Given the description of an element on the screen output the (x, y) to click on. 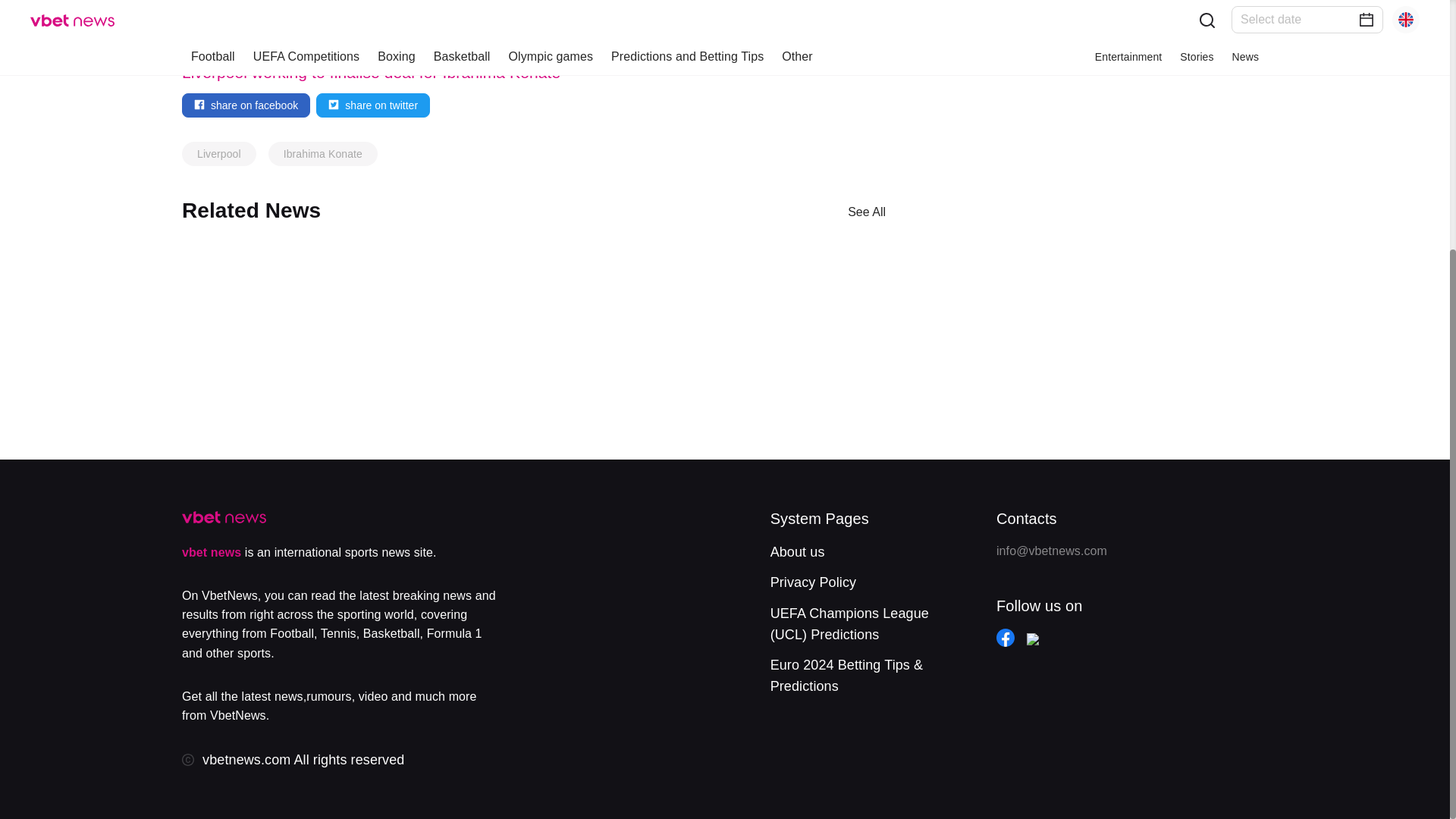
share on facebook (246, 105)
Liverpool working to finalise deal for Ibrahima Konate (371, 72)
About us (797, 551)
Ibrahima Konate (323, 153)
share on twitter (372, 105)
See All (866, 210)
Liverpool (218, 153)
Twitter (825, 51)
vbet news (211, 552)
Express (611, 51)
